Given the description of an element on the screen output the (x, y) to click on. 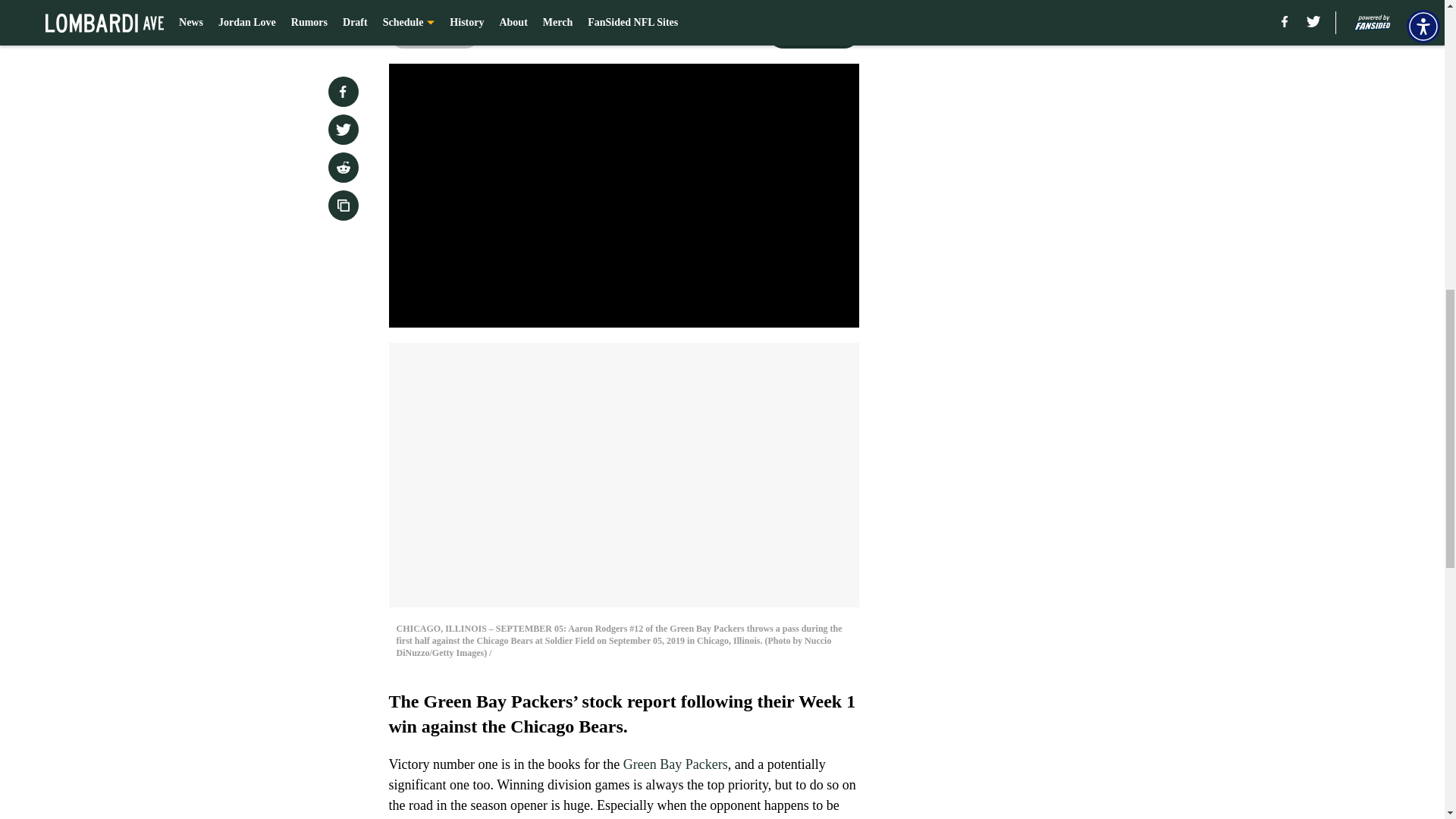
Prev (433, 33)
Next (813, 33)
Green Bay Packers (675, 764)
